Given the description of an element on the screen output the (x, y) to click on. 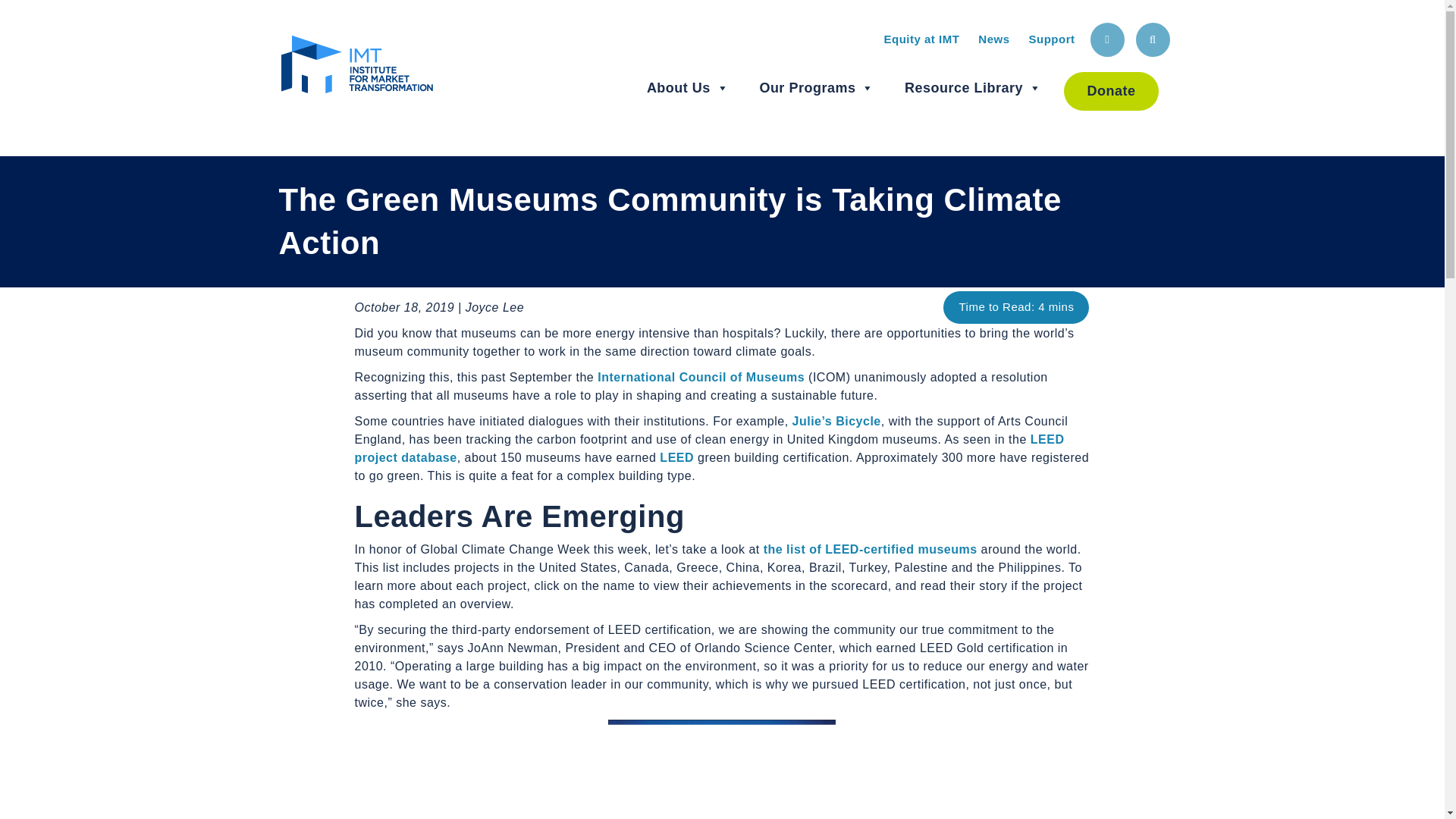
About Us (687, 87)
Support (1051, 39)
News (993, 39)
Search (1152, 39)
Equity at IMT (920, 39)
Our Programs (816, 87)
Resource Library (972, 87)
